Given the description of an element on the screen output the (x, y) to click on. 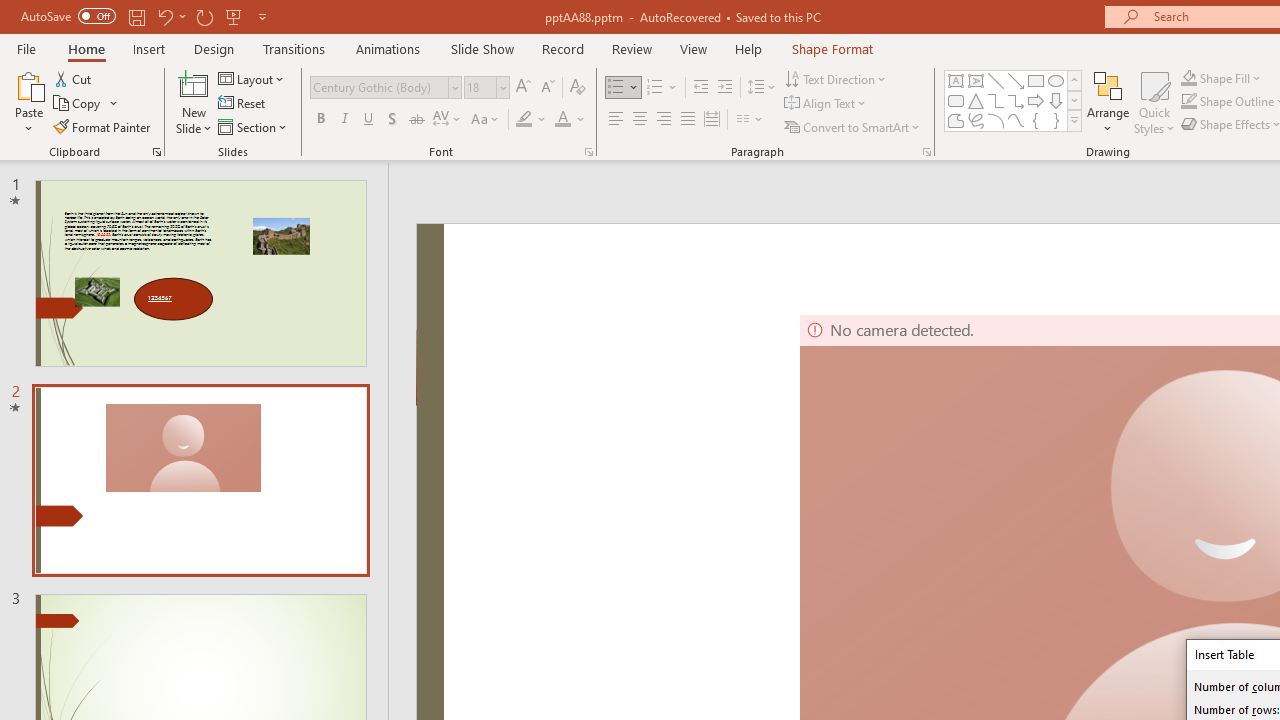
Shape Outline Teal, Accent 1 (1188, 101)
